Given the description of an element on the screen output the (x, y) to click on. 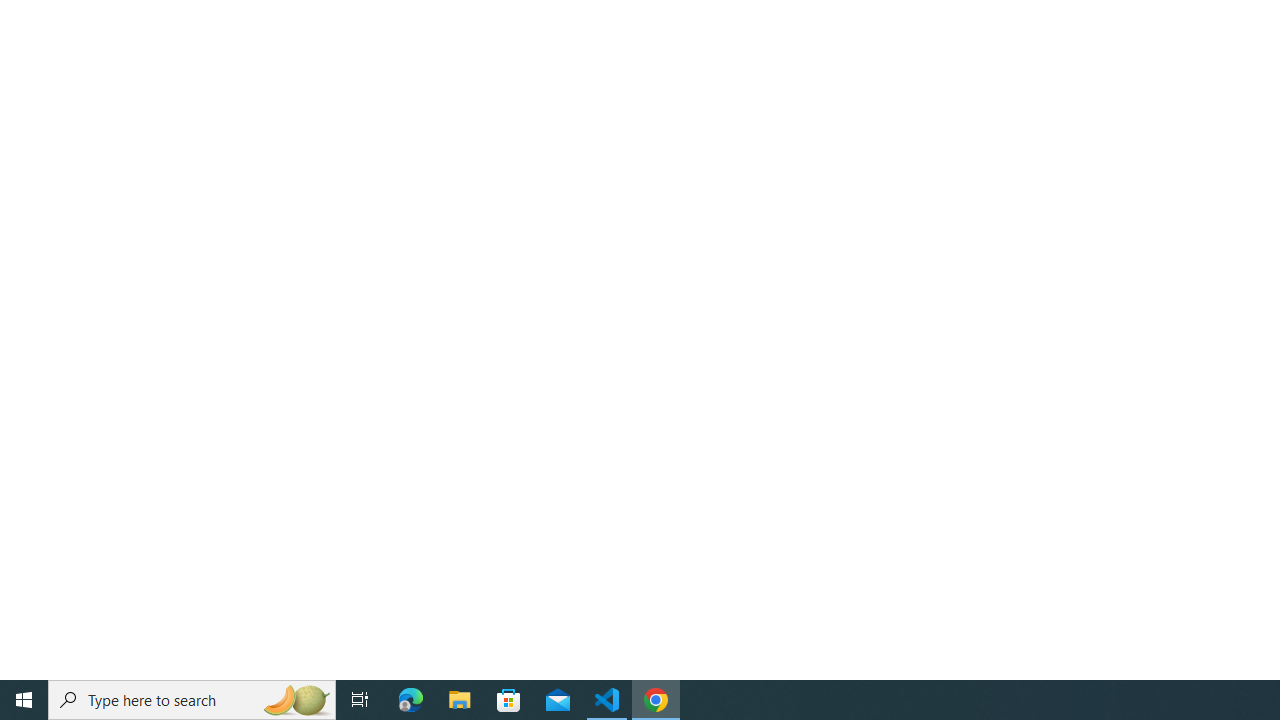
Task View (359, 699)
Google Chrome - 1 running window (656, 699)
Visual Studio Code - 1 running window (607, 699)
Type here to search (191, 699)
Microsoft Store (509, 699)
Search highlights icon opens search home window (295, 699)
Start (24, 699)
File Explorer (460, 699)
Microsoft Edge (411, 699)
